Given the description of an element on the screen output the (x, y) to click on. 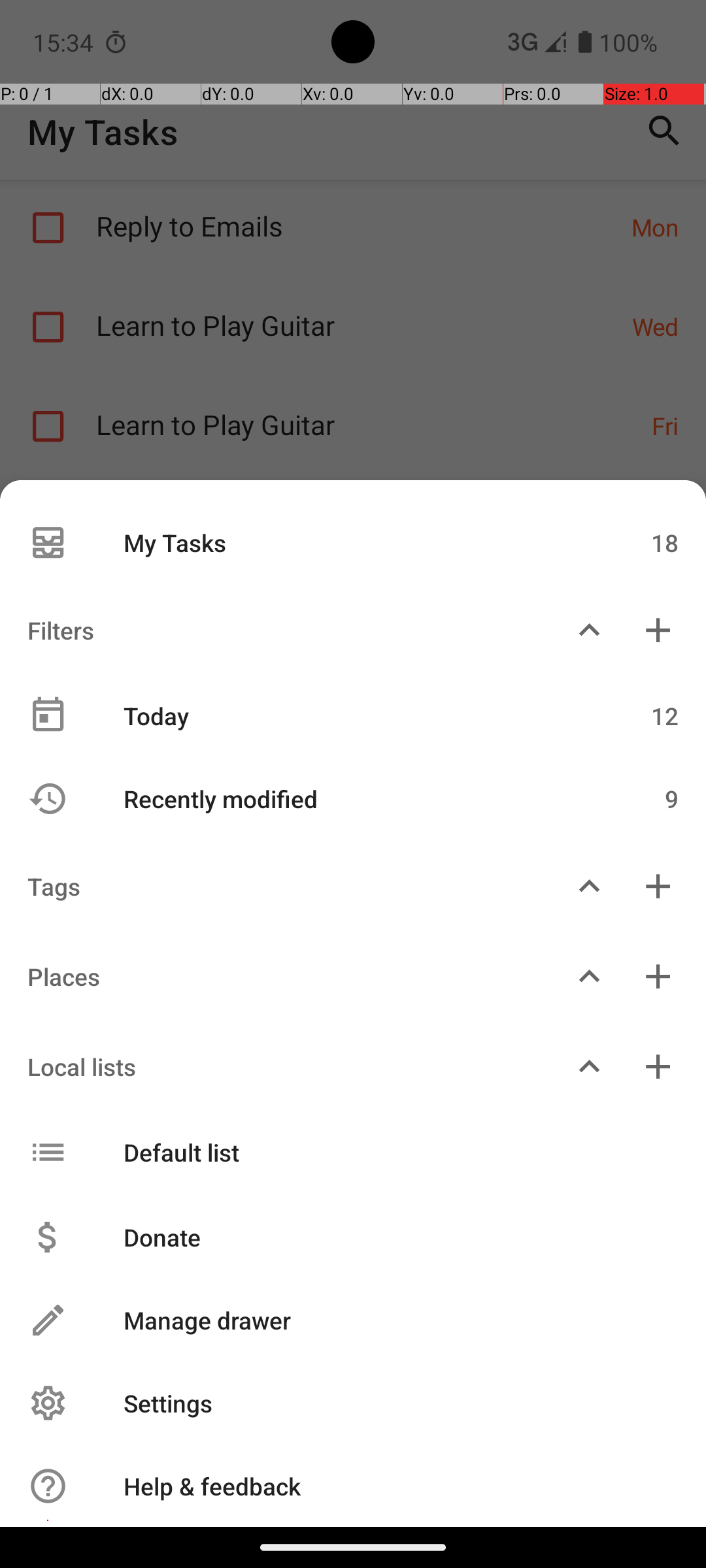
My Tasks Element type: android.widget.CheckedTextView (344, 542)
Filters Element type: android.widget.TextView (277, 630)
Recently modified Element type: android.widget.CheckedTextView (344, 798)
Tags Element type: android.widget.TextView (277, 886)
Places Element type: android.widget.TextView (277, 976)
Local lists Element type: android.widget.TextView (277, 1066)
Manage drawer Element type: android.widget.TextView (387, 1319)
